Given the description of an element on the screen output the (x, y) to click on. 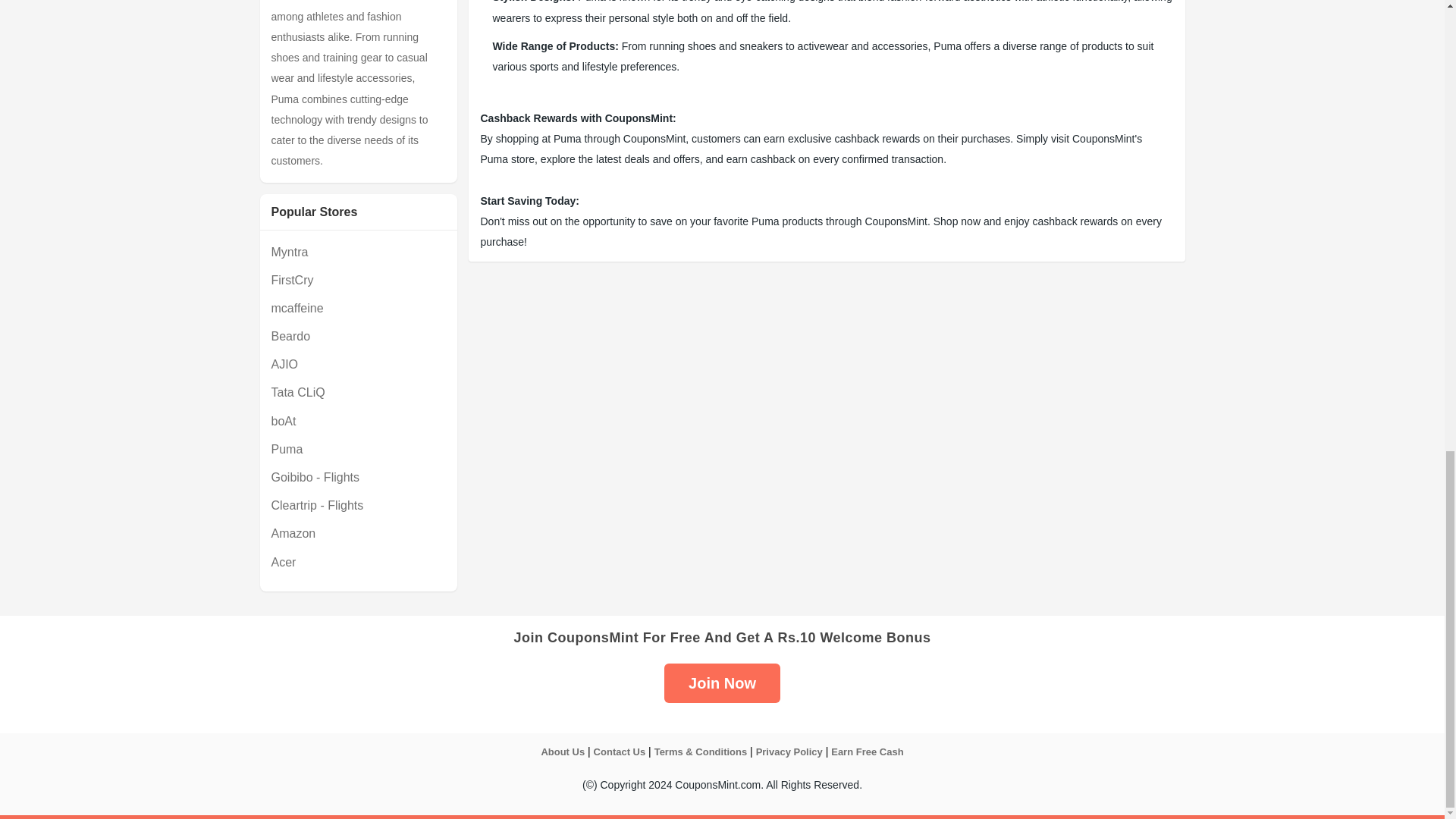
Myntra (357, 251)
Amazon (357, 533)
AJIO (357, 363)
Acer (357, 562)
Beardo (357, 335)
Tata CLiQ (357, 392)
Goibibo - Flights (357, 476)
FirstCry (357, 280)
mcaffeine (357, 308)
boAt (357, 421)
Cleartrip - Flights (357, 505)
Puma (357, 448)
